Given the description of an element on the screen output the (x, y) to click on. 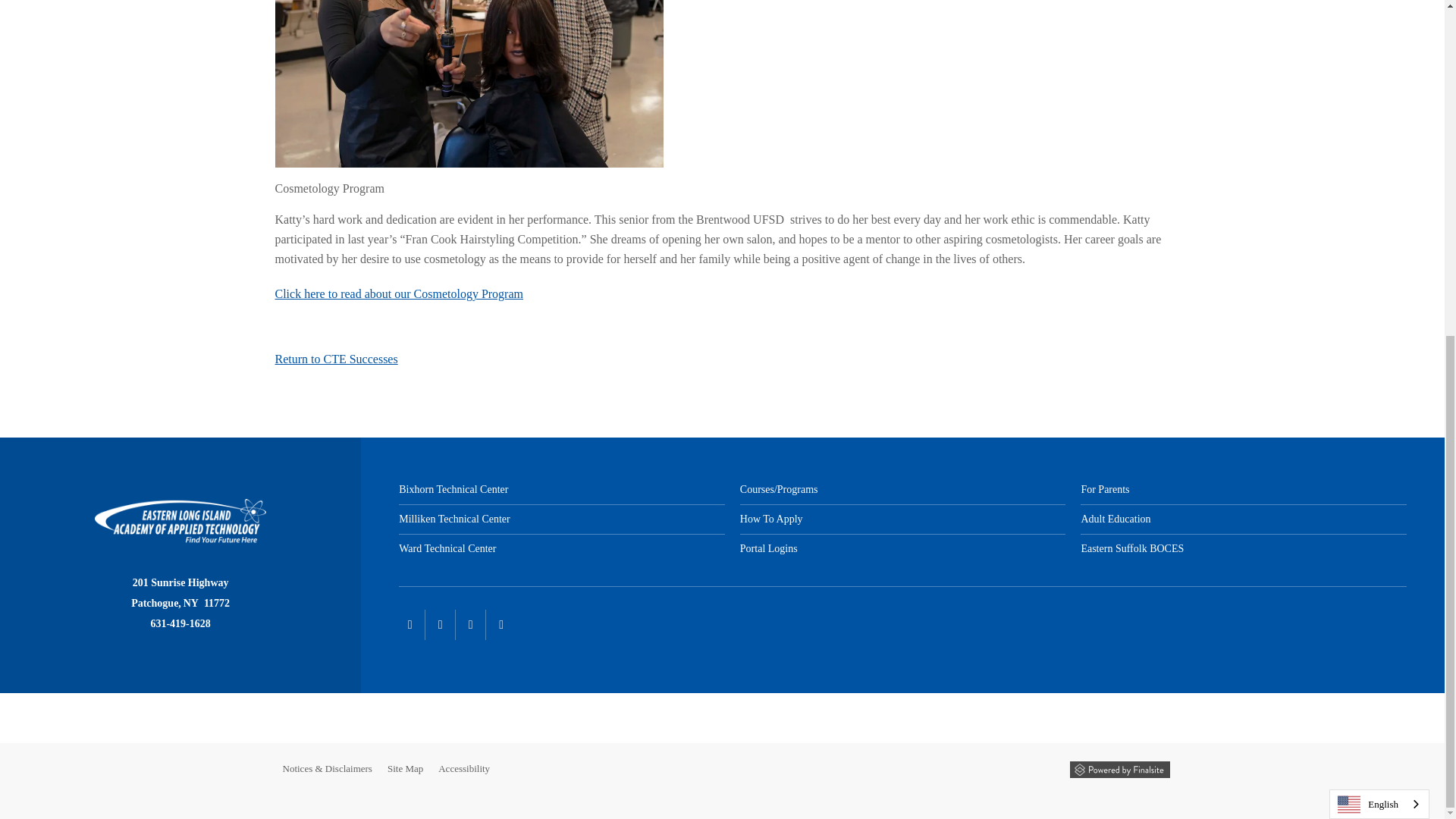
Powered by Finalsite opens in a new window (1118, 769)
